Given the description of an element on the screen output the (x, y) to click on. 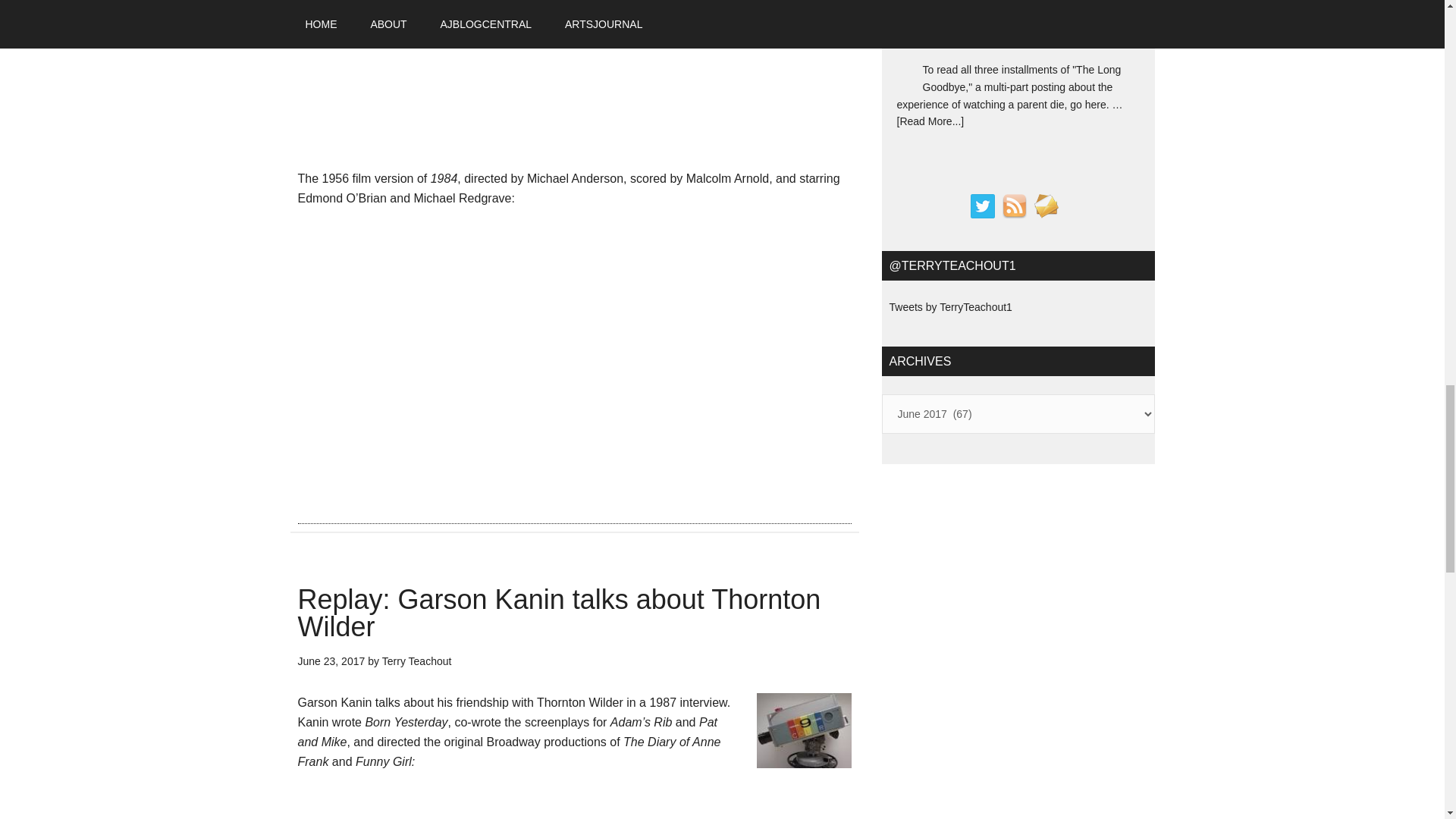
Follow Us on E-mail (1045, 206)
Terry Teachout (416, 661)
The Long Goodbye (985, 27)
Follow Us on Twitter (982, 206)
The Long Goodbye (985, 27)
Follow Us on RSS (1014, 206)
Replay: Garson Kanin talks about Thornton Wilder (559, 612)
